Given the description of an element on the screen output the (x, y) to click on. 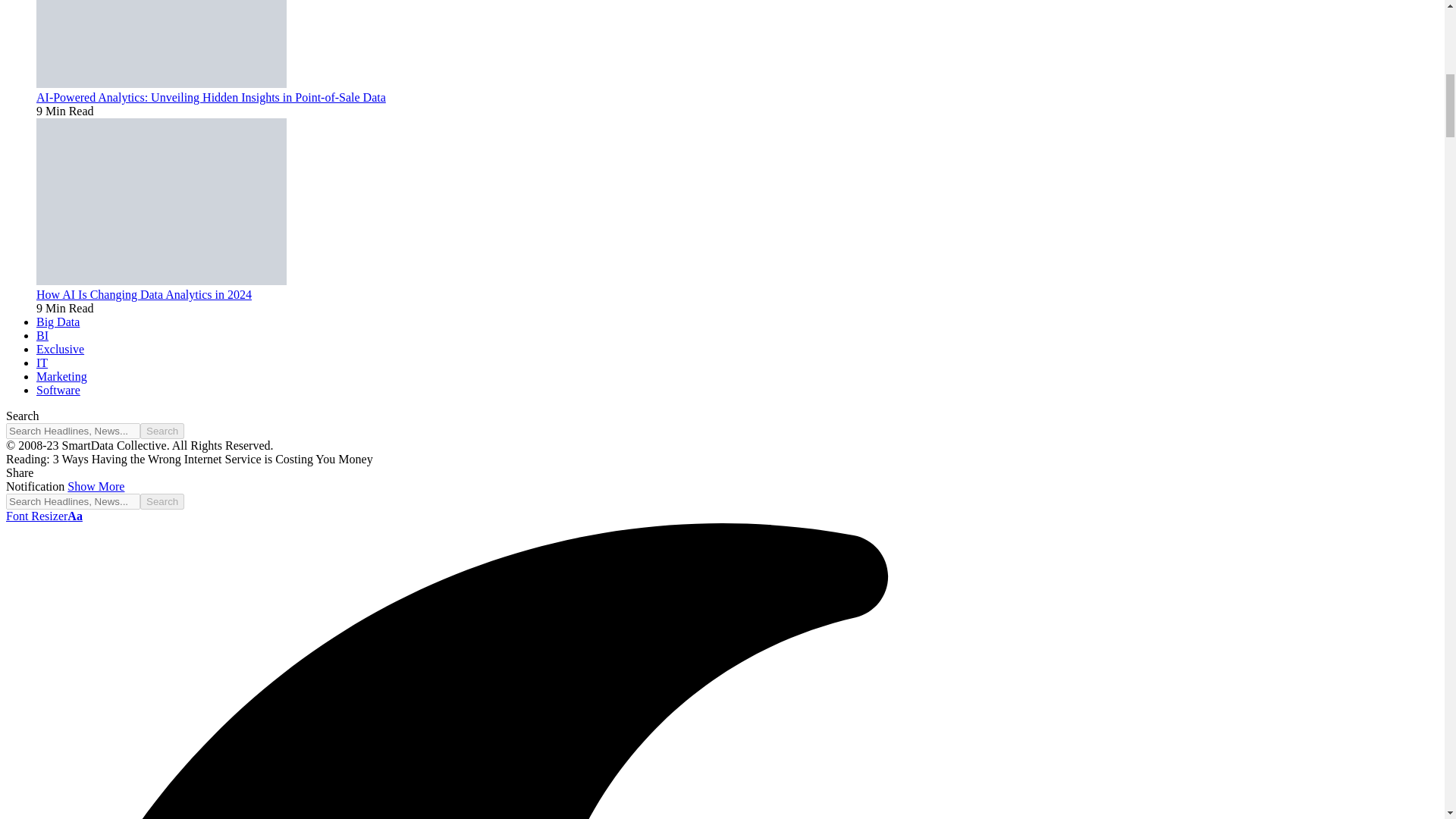
Search (161, 430)
Show More (94, 486)
How AI Is Changing Data Analytics in 2024 (143, 294)
Search (161, 430)
Search (161, 501)
Font ResizerAa (43, 515)
Business Intelligence (42, 335)
How AI Is Changing Data Analytics in 2024 (161, 280)
Search (161, 501)
Big Data (58, 321)
BI (42, 335)
Marketing (61, 376)
Software (58, 390)
Exclusive (60, 349)
